Given the description of an element on the screen output the (x, y) to click on. 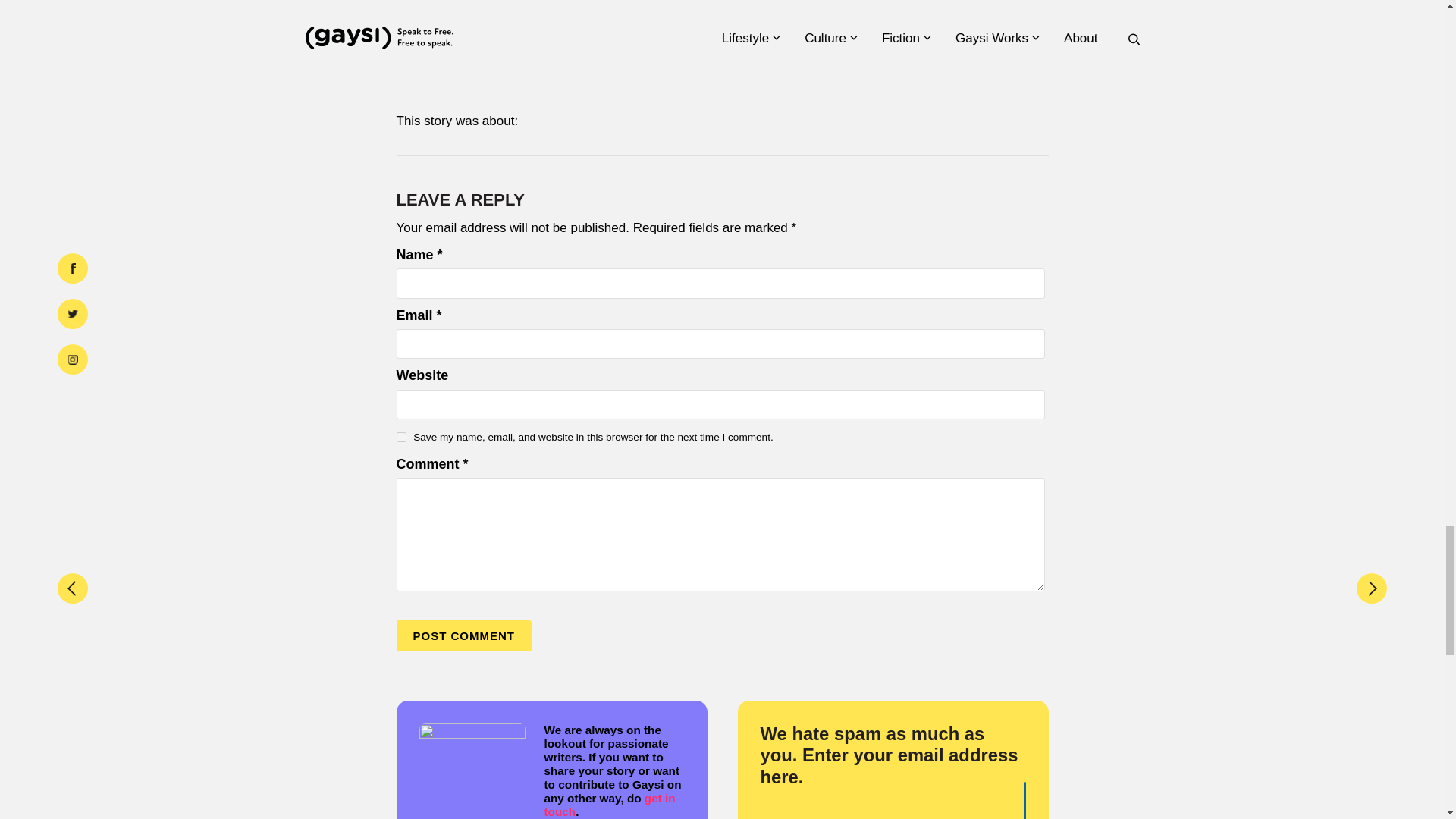
Post Comment (463, 635)
Get in touch (609, 804)
yes (401, 437)
